Given the description of an element on the screen output the (x, y) to click on. 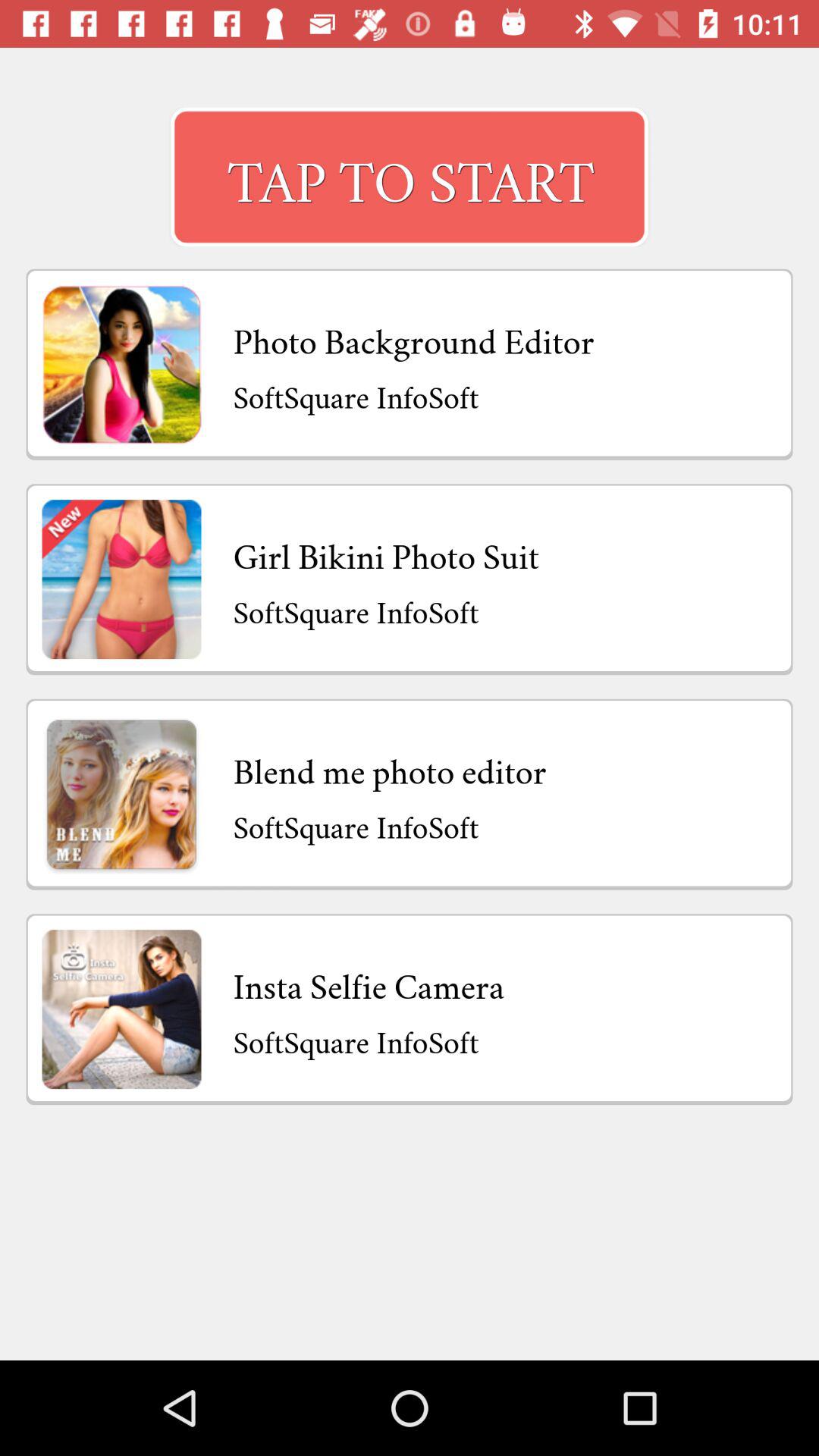
turn on app below softsquare infosoft (389, 767)
